Given the description of an element on the screen output the (x, y) to click on. 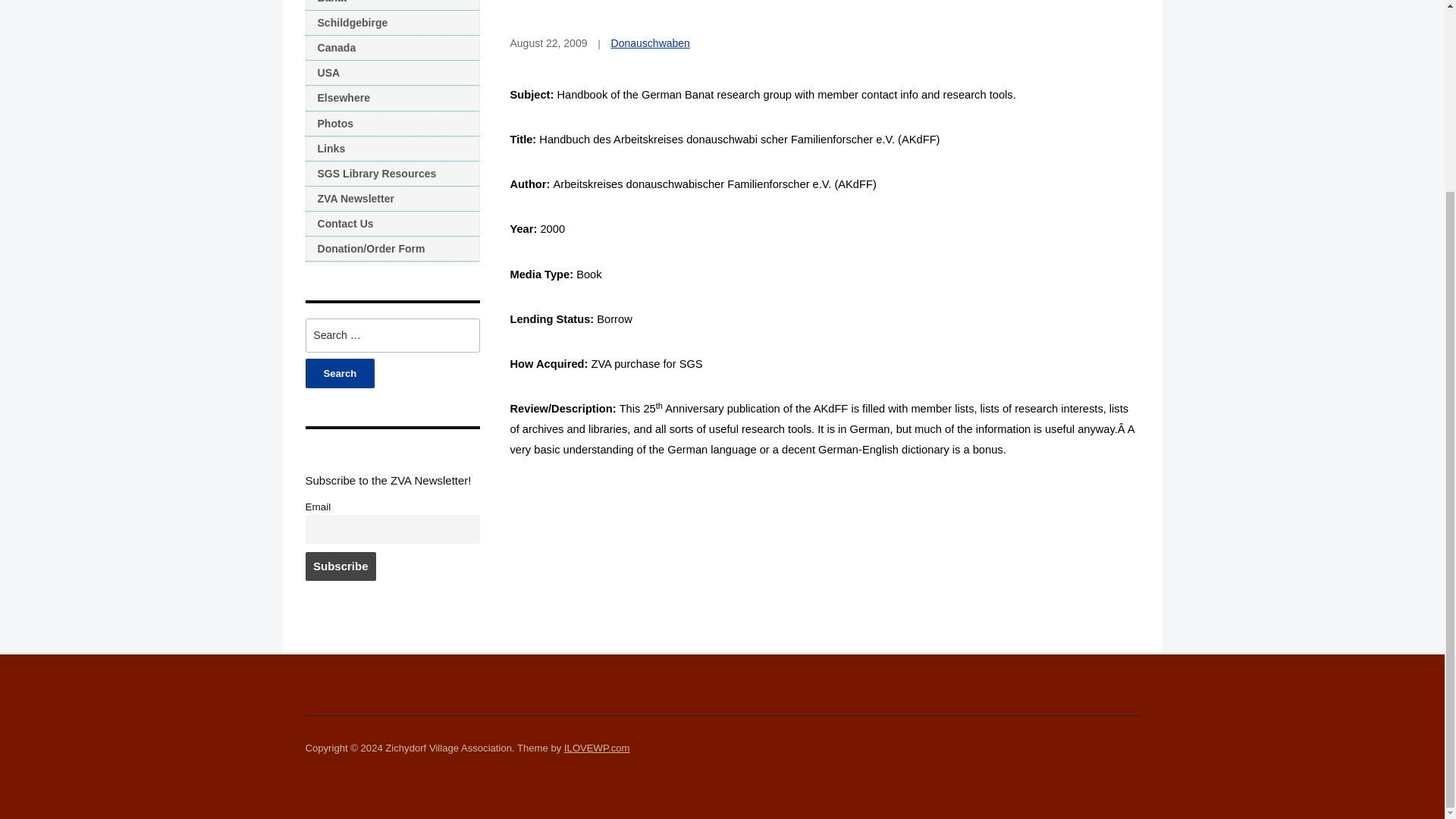
Banat (391, 5)
SGS Library Resources (391, 173)
Subscribe (339, 566)
Elsewhere (391, 97)
Search (339, 373)
Canada (391, 48)
Links (391, 148)
ILOVEWP.com (596, 747)
Donauschwaben (650, 42)
Schildgebirge (391, 23)
